Given the description of an element on the screen output the (x, y) to click on. 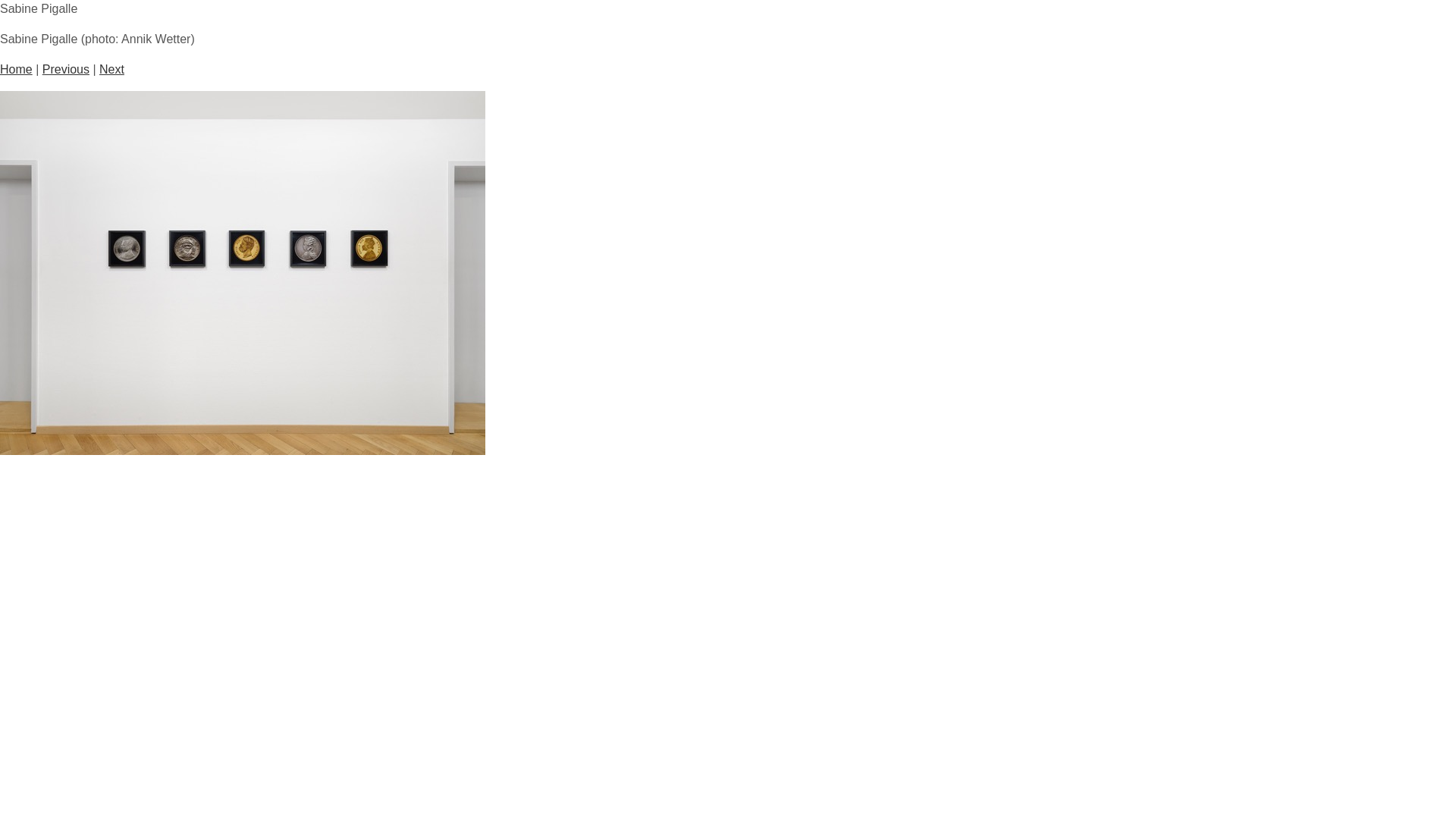
Home Element type: text (16, 68)
Previous Element type: text (65, 68)
Next Element type: text (111, 68)
